Given the description of an element on the screen output the (x, y) to click on. 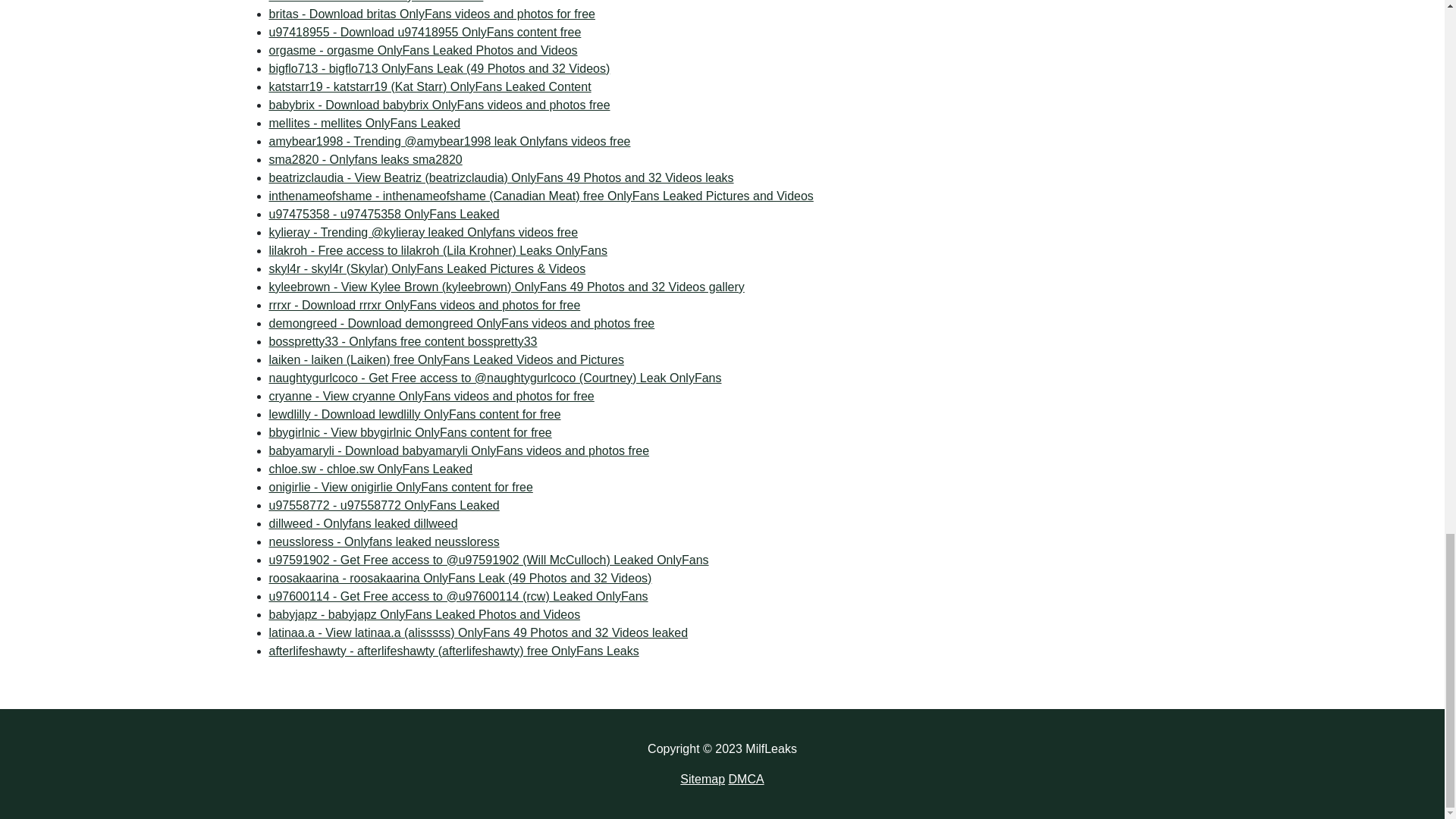
sma2820 - Onlyfans leaks sma2820 (364, 159)
bosspretty33 - Onlyfans free content bosspretty33 (402, 341)
orgasme - orgasme OnlyFans Leaked Photos and Videos (438, 104)
britas - Download britas OnlyFans videos and photos for free (423, 31)
